Given the description of an element on the screen output the (x, y) to click on. 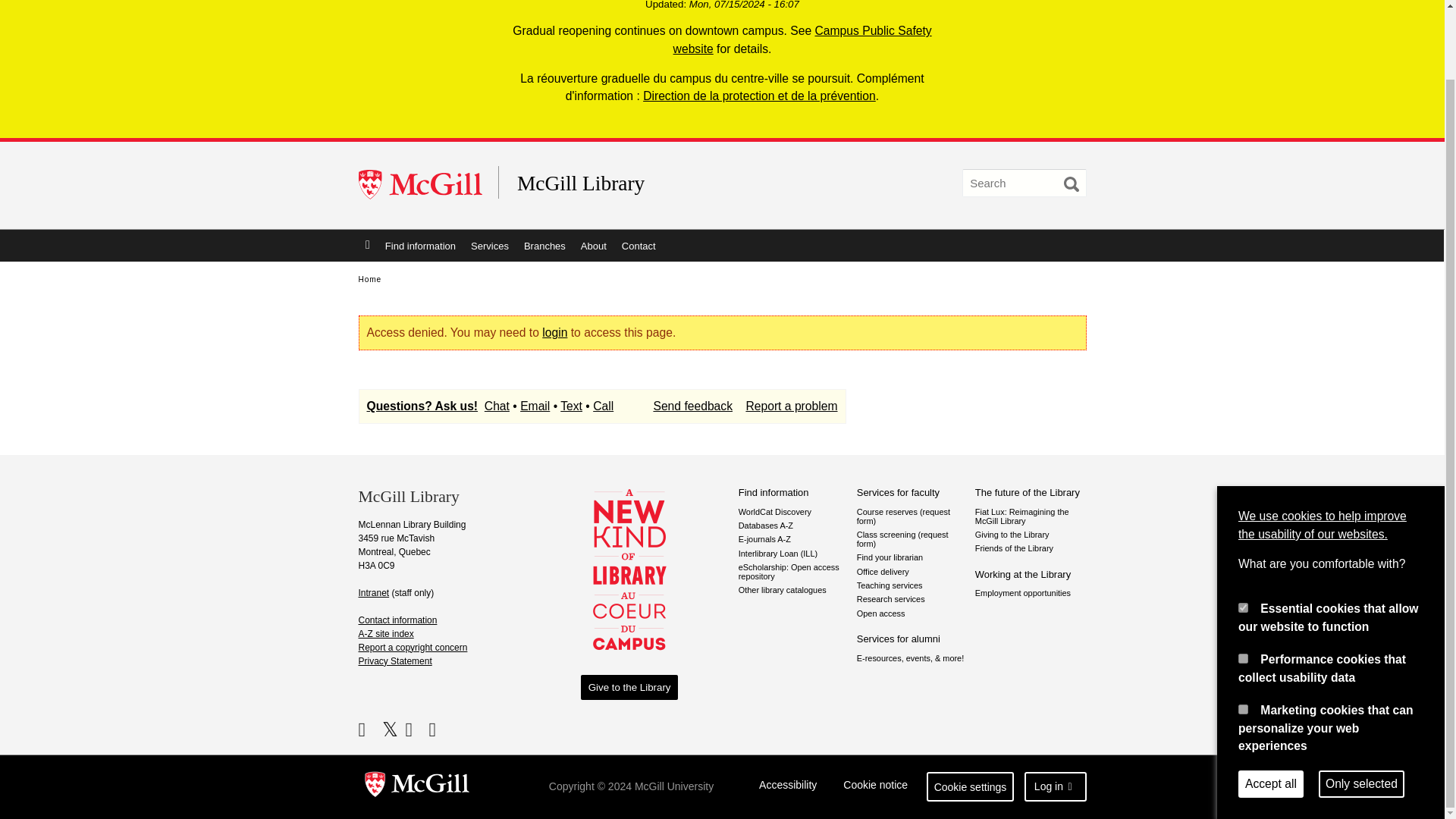
required (1243, 531)
Sign in (554, 332)
performance (1243, 582)
McGill University (427, 185)
McGill Library (664, 182)
Call (602, 405)
Campus Public Safety website (801, 39)
Chat (496, 405)
return to McGill University (427, 185)
Chat (571, 405)
Search (1070, 183)
Email (534, 405)
Search (1070, 183)
marketing (1243, 633)
